Given the description of an element on the screen output the (x, y) to click on. 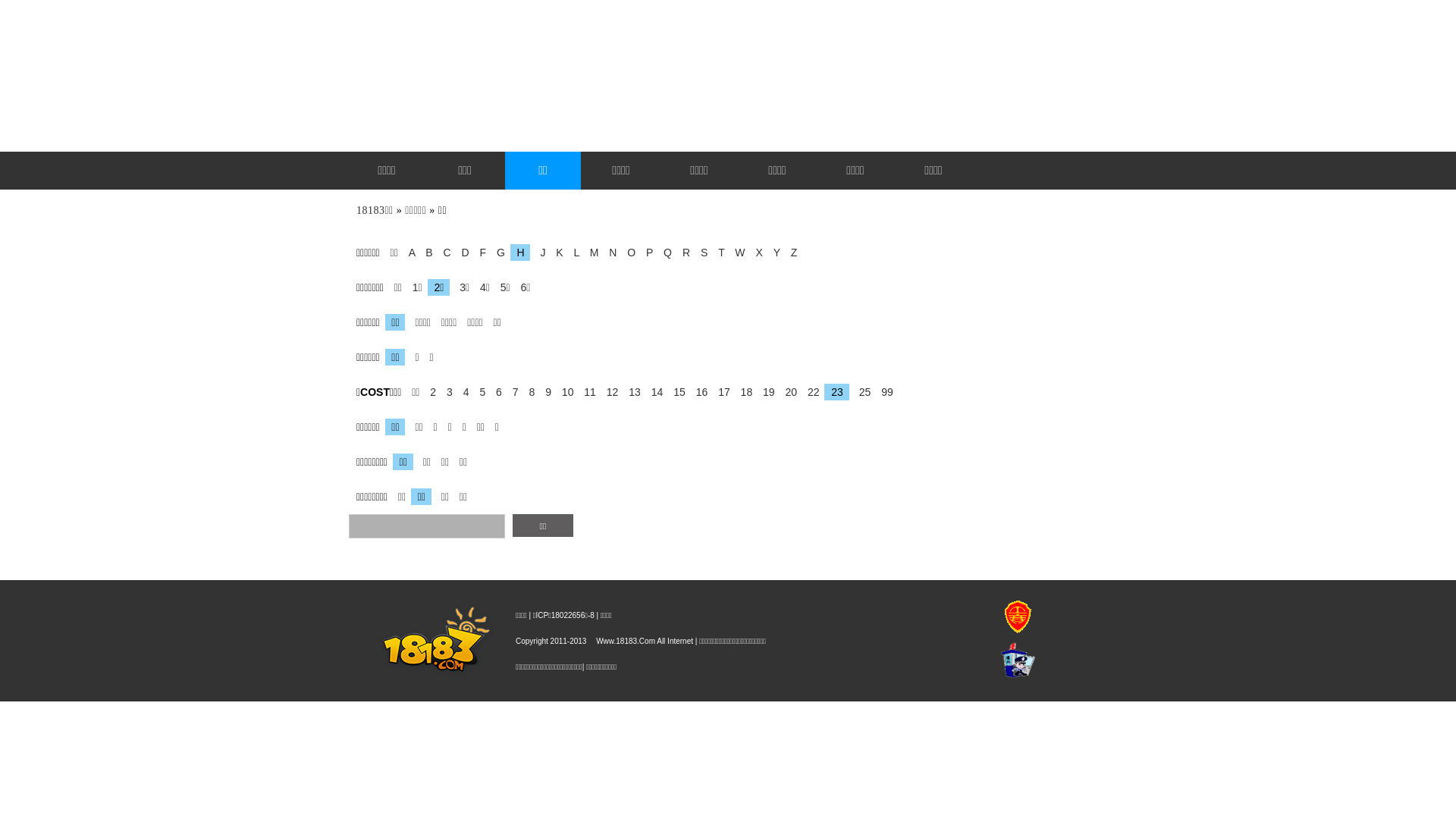
4 Element type: text (462, 391)
20 Element type: text (787, 391)
6 Element type: text (495, 391)
G Element type: text (497, 252)
16 Element type: text (698, 391)
15 Element type: text (675, 391)
25 Element type: text (861, 391)
L Element type: text (572, 252)
O Element type: text (627, 252)
R Element type: text (682, 252)
2 Element type: text (429, 391)
Z Element type: text (790, 252)
22 Element type: text (809, 391)
12 Element type: text (608, 391)
9 Element type: text (544, 391)
18 Element type: text (743, 391)
K Element type: text (555, 252)
T Element type: text (717, 252)
W Element type: text (735, 252)
D Element type: text (460, 252)
M Element type: text (590, 252)
J Element type: text (538, 252)
Q Element type: text (663, 252)
5 Element type: text (478, 391)
N Element type: text (608, 252)
F Element type: text (478, 252)
Y Element type: text (772, 252)
C Element type: text (442, 252)
7 Element type: text (511, 391)
S Element type: text (700, 252)
10 Element type: text (564, 391)
19 Element type: text (765, 391)
P Element type: text (645, 252)
X Element type: text (754, 252)
B Element type: text (424, 252)
3 Element type: text (445, 391)
8 Element type: text (527, 391)
A Element type: text (408, 252)
99 Element type: text (883, 391)
11 Element type: text (586, 391)
17 Element type: text (720, 391)
14 Element type: text (653, 391)
13 Element type: text (630, 391)
